Given the description of an element on the screen output the (x, y) to click on. 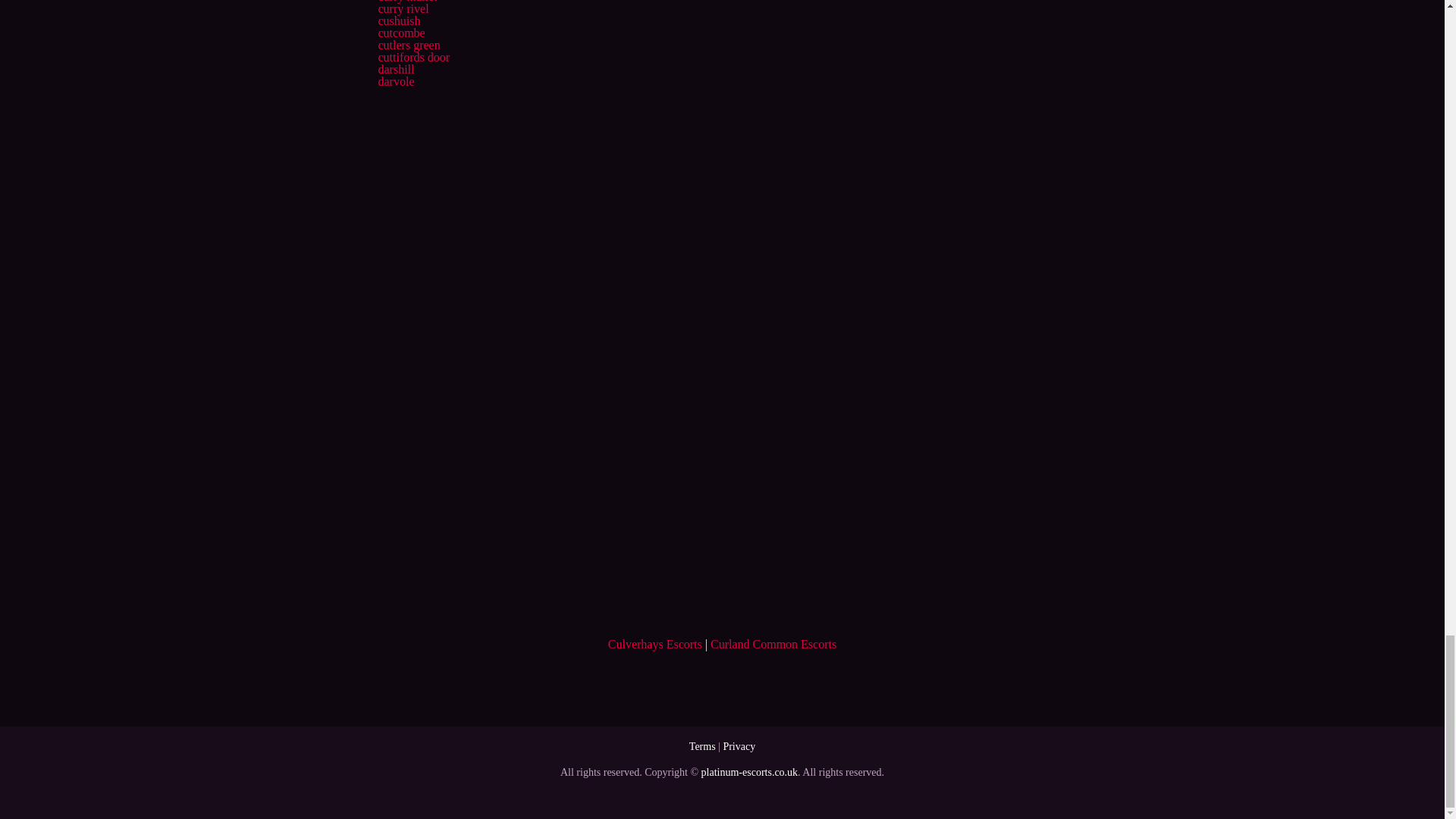
Culverhays Escorts (654, 644)
cuttifords door (413, 56)
curry mallet (406, 1)
Curland Common Escorts (772, 644)
Privacy (738, 746)
cutcombe (401, 32)
platinum-escorts.co.uk (749, 772)
Terms (702, 746)
darvole (395, 81)
Terms (702, 746)
